Given the description of an element on the screen output the (x, y) to click on. 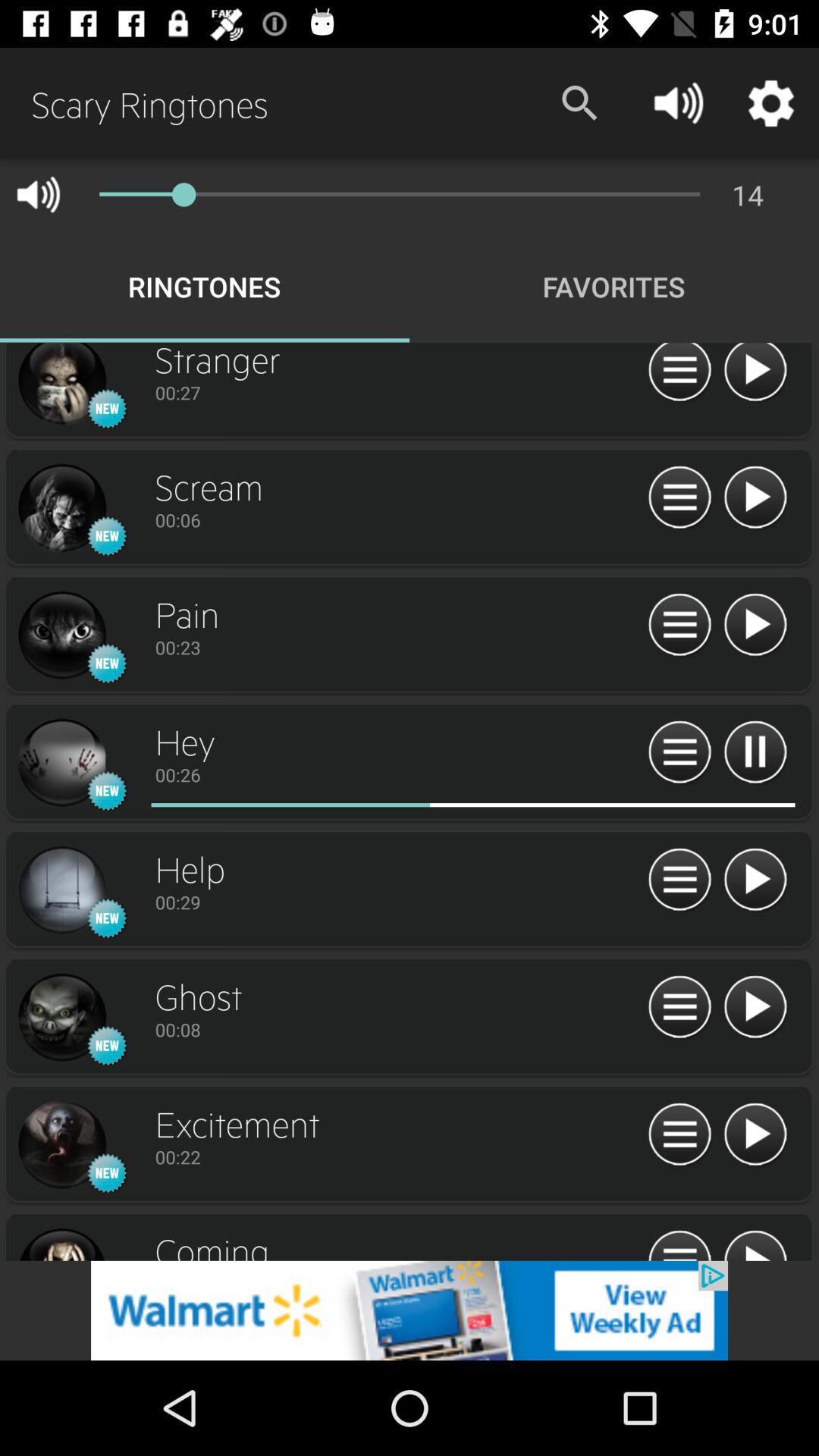
more option (679, 1243)
